Given the description of an element on the screen output the (x, y) to click on. 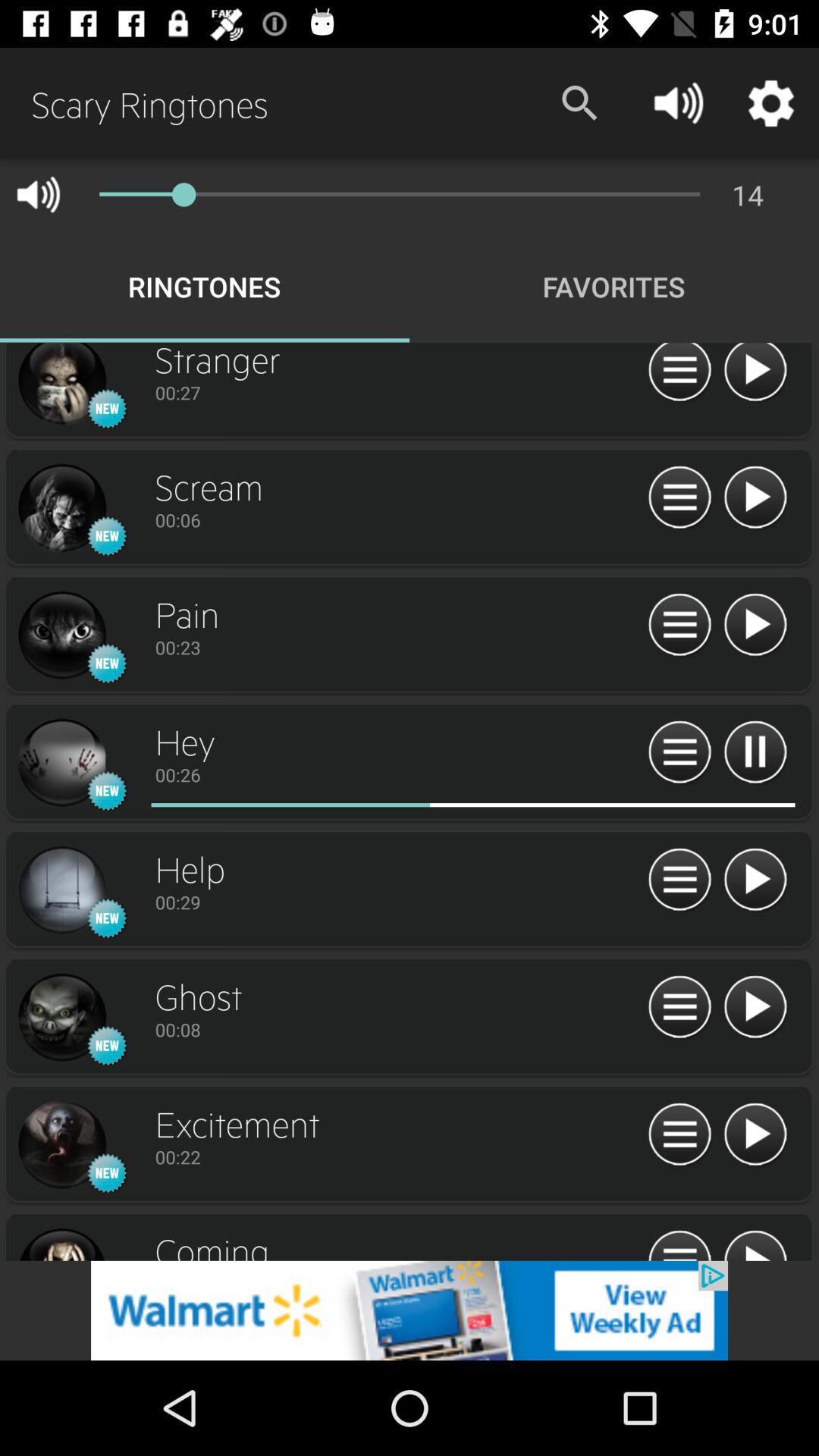
more option (679, 1243)
